Given the description of an element on the screen output the (x, y) to click on. 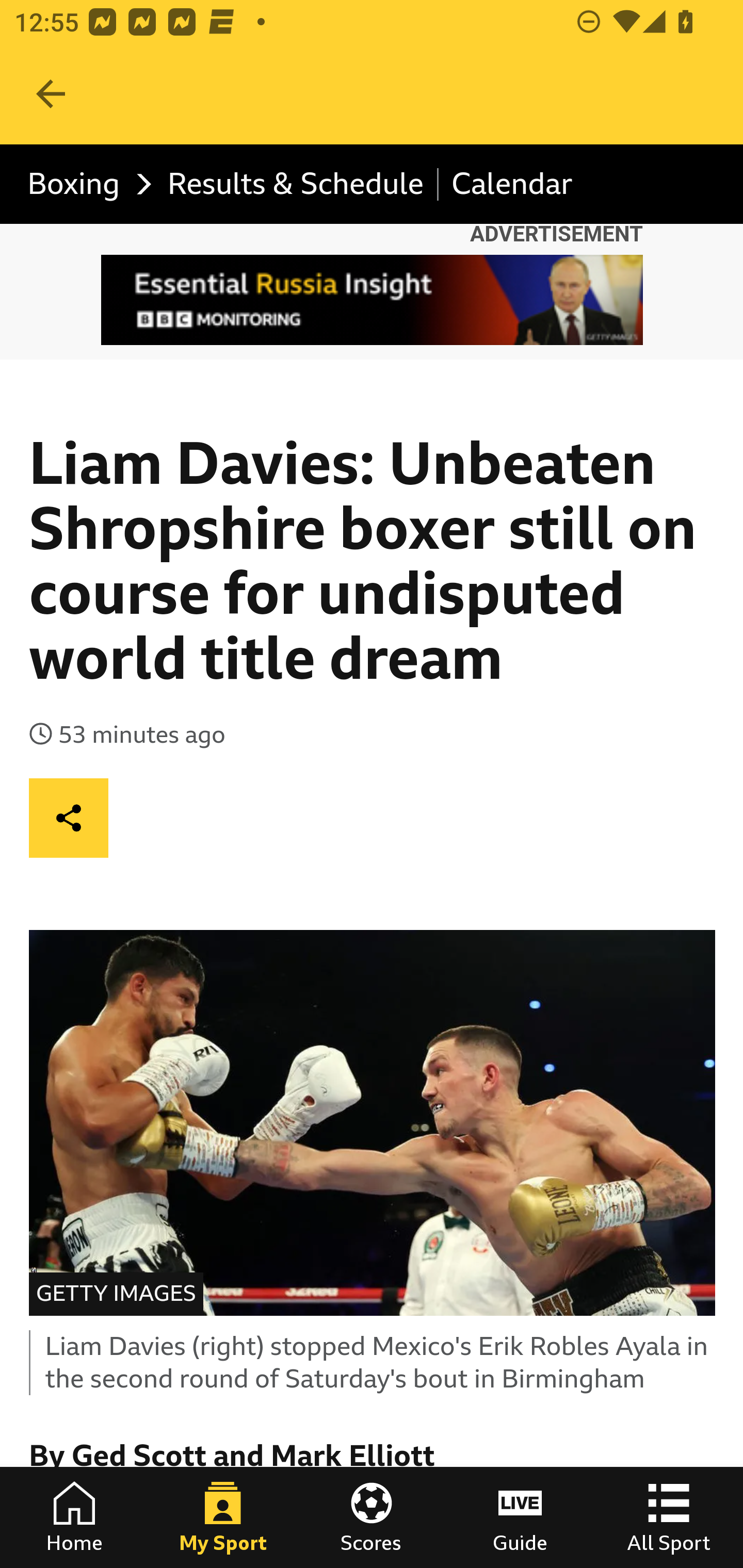
Navigate up (50, 93)
Boxing (84, 184)
Results & Schedule (295, 184)
Calendar (511, 184)
Share (68, 817)
Home (74, 1517)
Scores (371, 1517)
Guide (519, 1517)
All Sport (668, 1517)
